Given the description of an element on the screen output the (x, y) to click on. 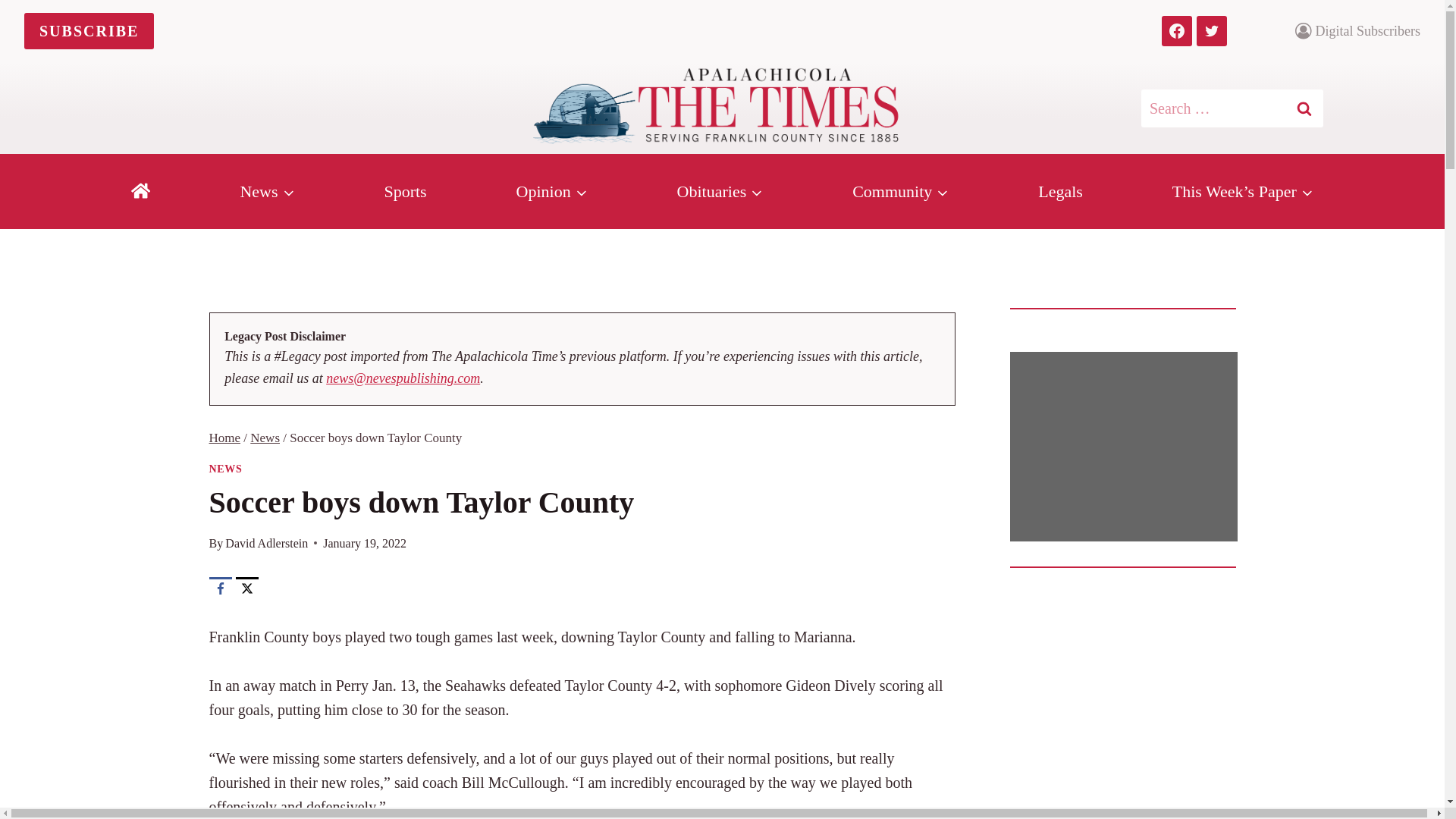
Search (1304, 108)
Sports (405, 191)
Home (225, 437)
Search (1304, 108)
News (267, 191)
Community (901, 191)
Search (1304, 108)
Legals (1060, 191)
Opinion (550, 191)
SUBSCRIBE (89, 31)
